Given the description of an element on the screen output the (x, y) to click on. 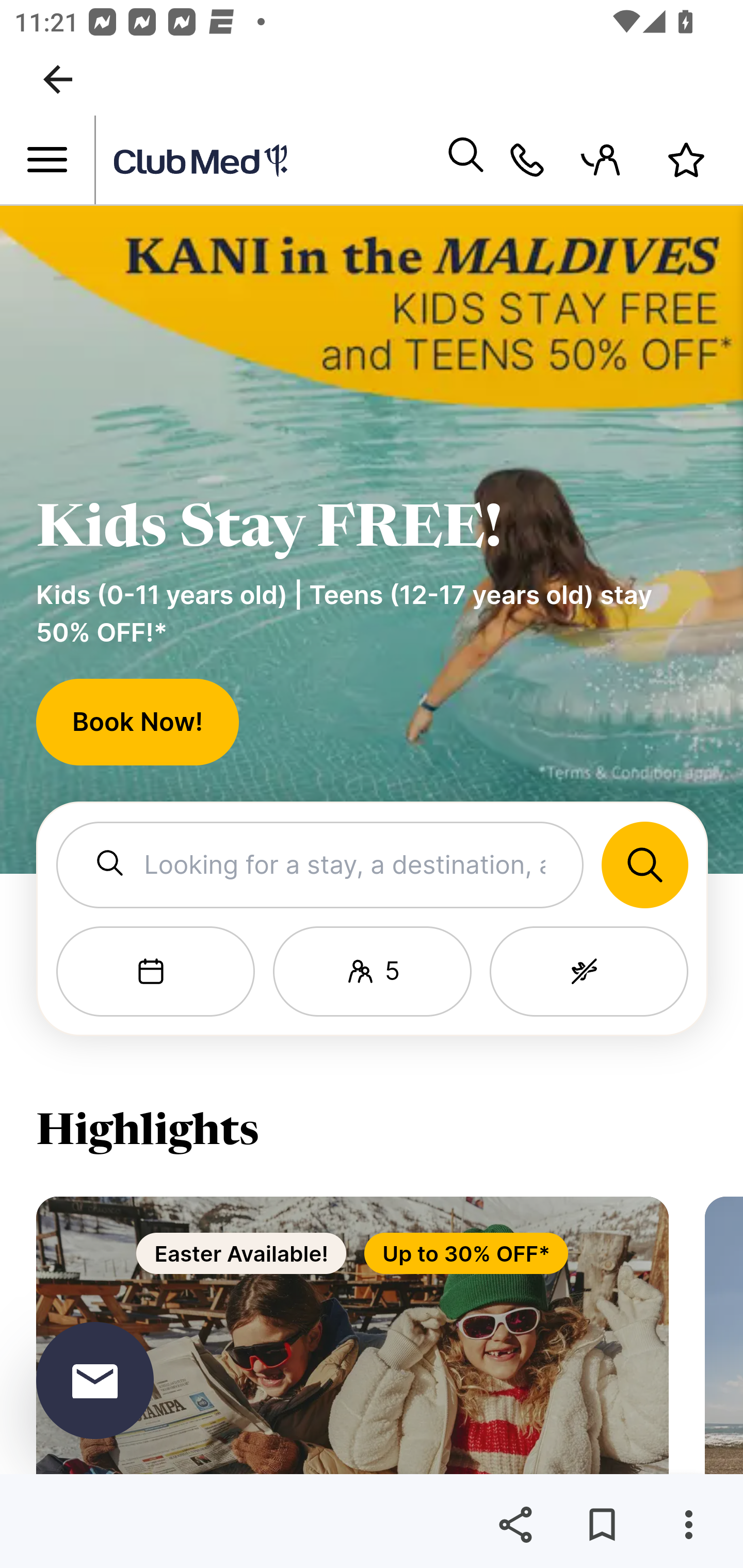
Navigate up (57, 79)
Open main navigation (47, 160)
Club Med Homepage (269, 161)
Search (465, 160)
Your Travel Advisor (526, 160)
Your Account (606, 160)
5 (371, 972)
Share (514, 1524)
Save for later (601, 1524)
More options (688, 1524)
